Given the description of an element on the screen output the (x, y) to click on. 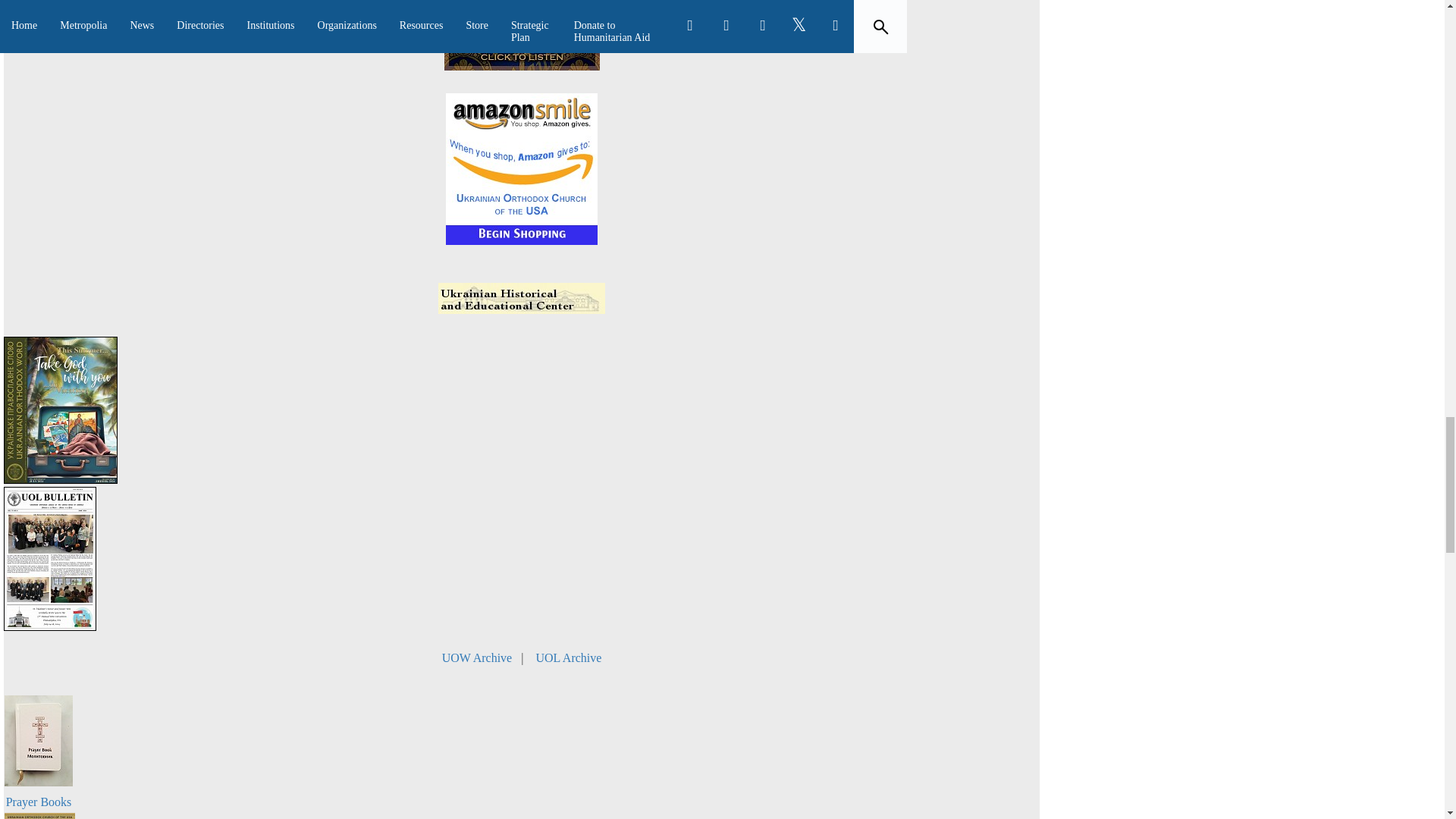
Calendar 2024 (39, 816)
